Given the description of an element on the screen output the (x, y) to click on. 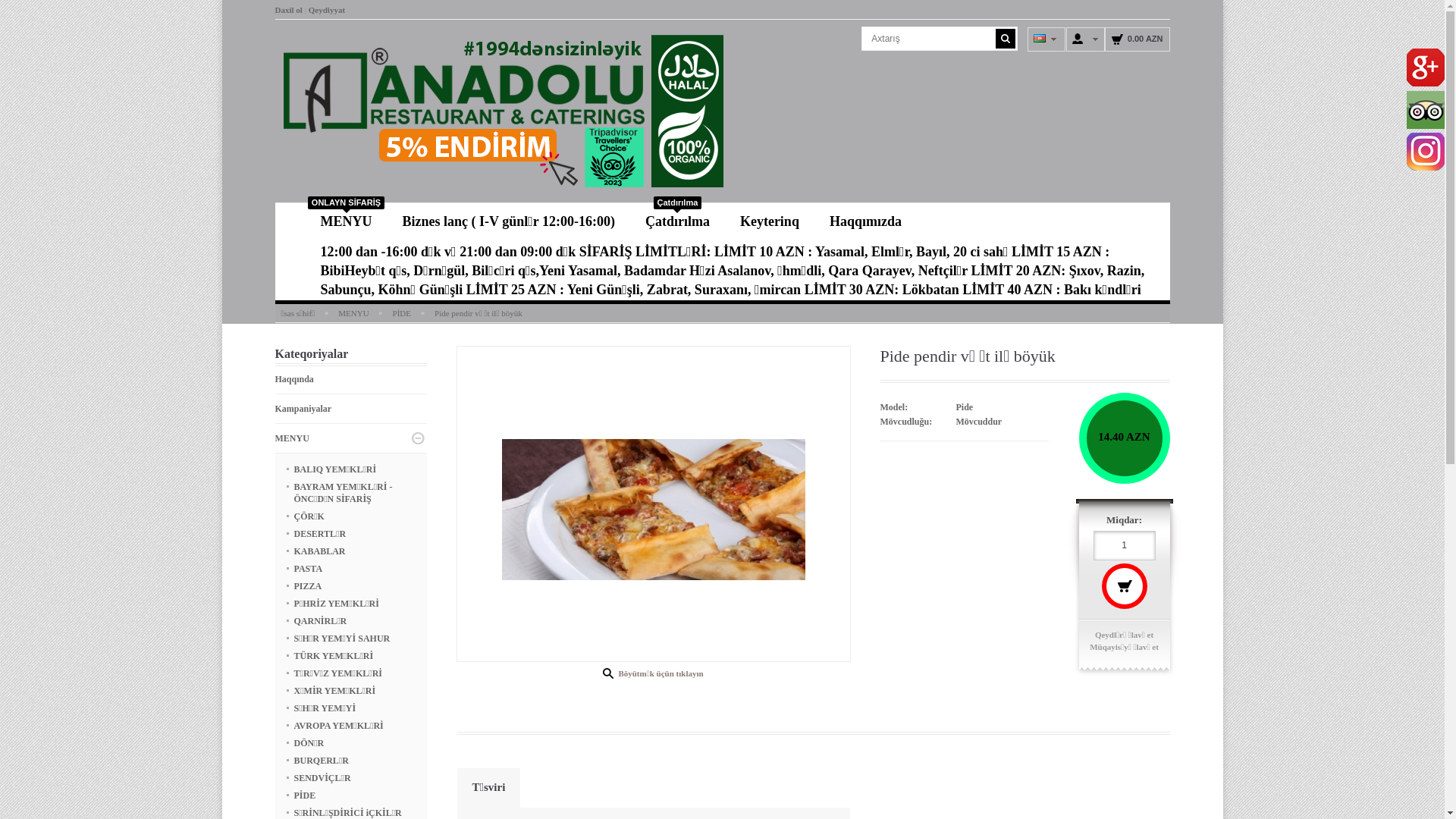
PIZZA Element type: text (308, 585)
PASTA Element type: text (308, 568)
KABABLAR Element type: text (319, 551)
Anadolu Restaurants & Catering Element type: hover (502, 110)
Qeydiyyat Element type: text (326, 9)
Keyterinq Element type: text (769, 218)
Kampaniyalar Element type: text (302, 408)
0.00 AZN Element type: text (1136, 39)
MENYU Element type: text (291, 438)
MENYU Element type: text (353, 312)
Daxil ol Element type: text (287, 9)
Azeri Element type: hover (1039, 38)
Almaq Element type: text (1123, 585)
